Given the description of an element on the screen output the (x, y) to click on. 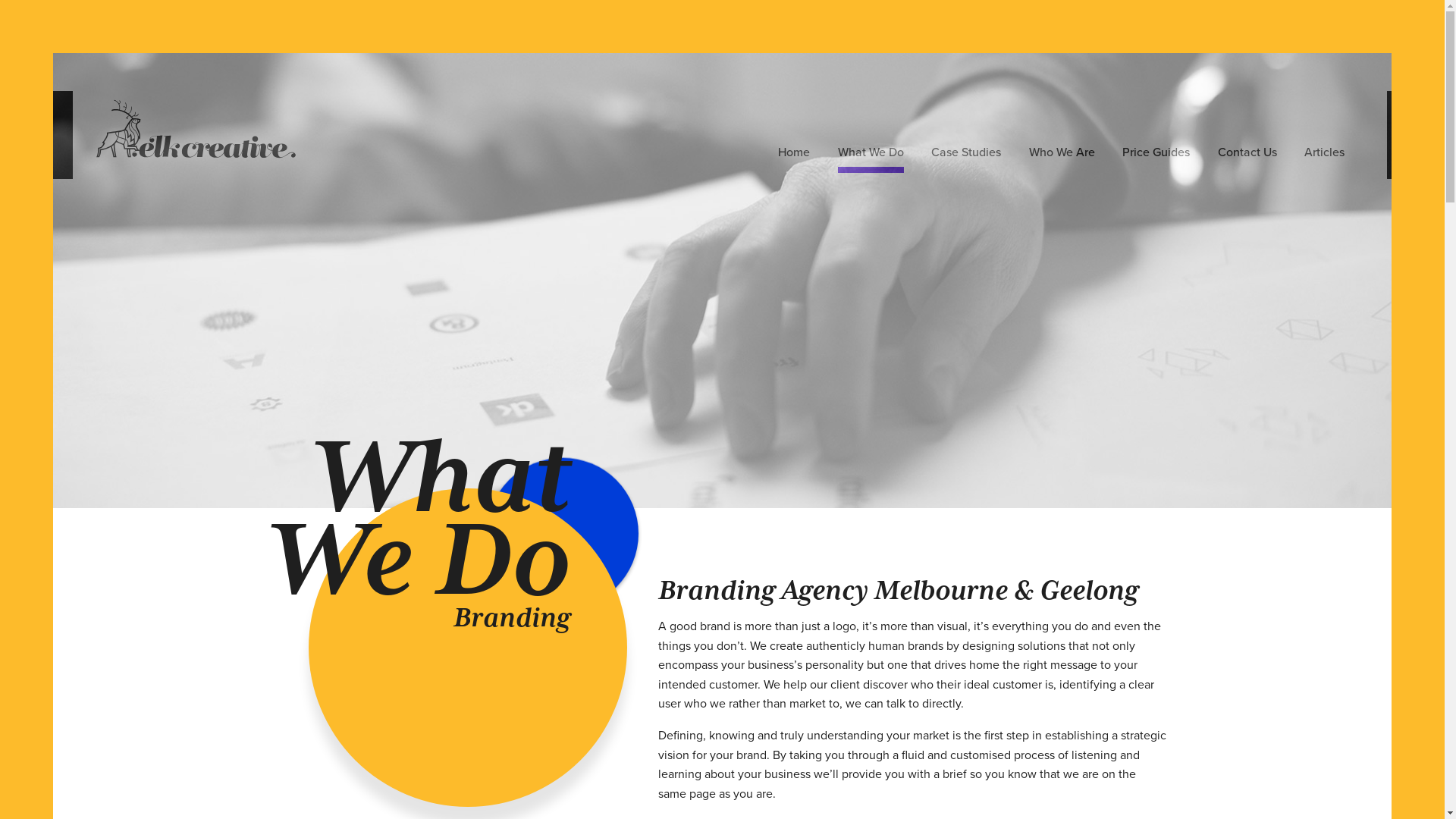
Who We Are Element type: text (1061, 155)
Home Element type: text (793, 155)
Articles Element type: text (1324, 155)
What We Do Element type: text (870, 155)
Case Studies Element type: text (966, 155)
Contact Us Element type: text (1247, 155)
Price Guides Element type: text (1155, 155)
